Given the description of an element on the screen output the (x, y) to click on. 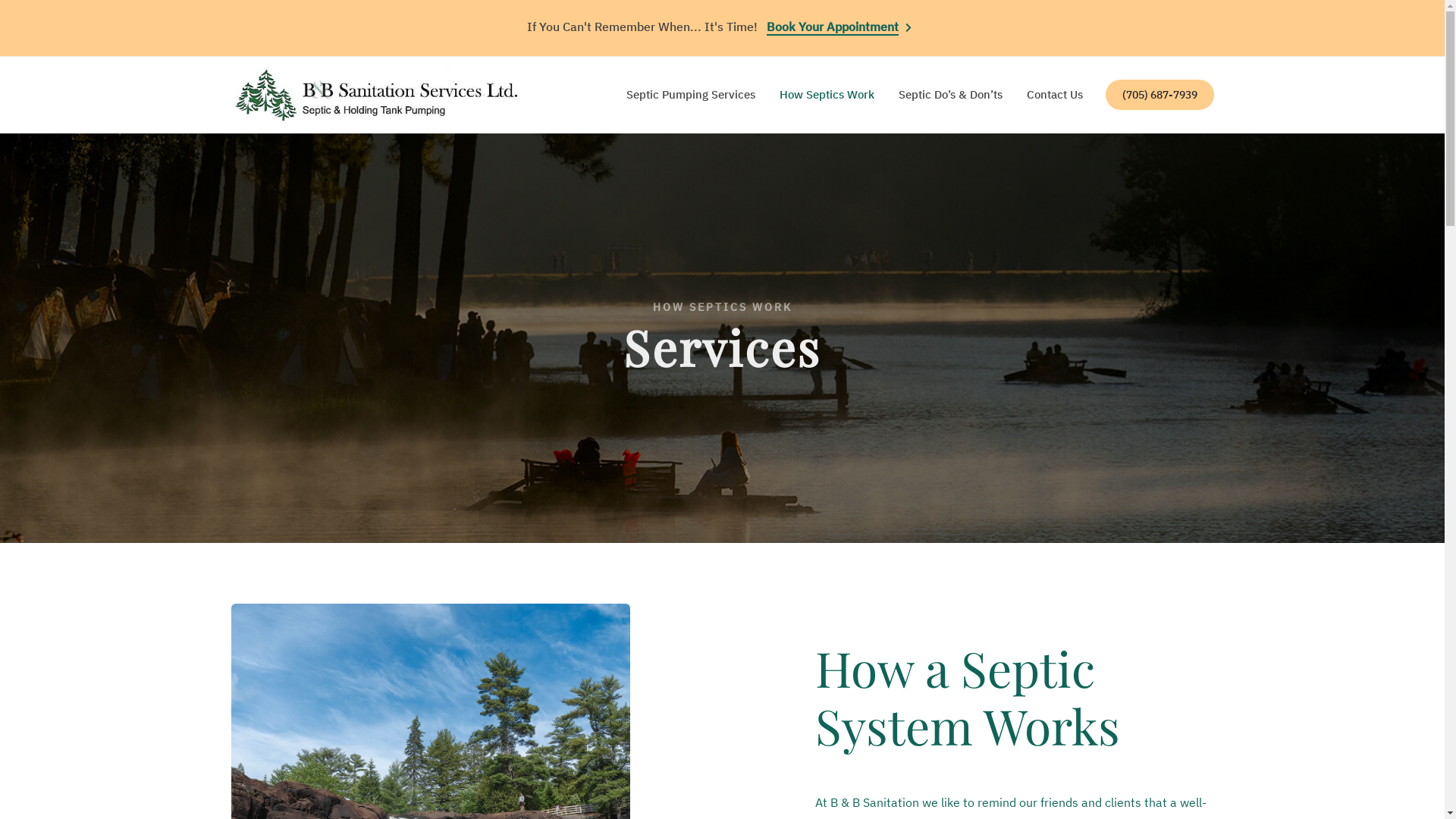
Book Your Appointment Element type: text (832, 26)
Contact Us Element type: text (1053, 94)
How Septics Work Element type: text (825, 94)
Septic Pumping Services Element type: text (689, 94)
(705) 687-7939 Element type: text (1159, 94)
